Given the description of an element on the screen output the (x, y) to click on. 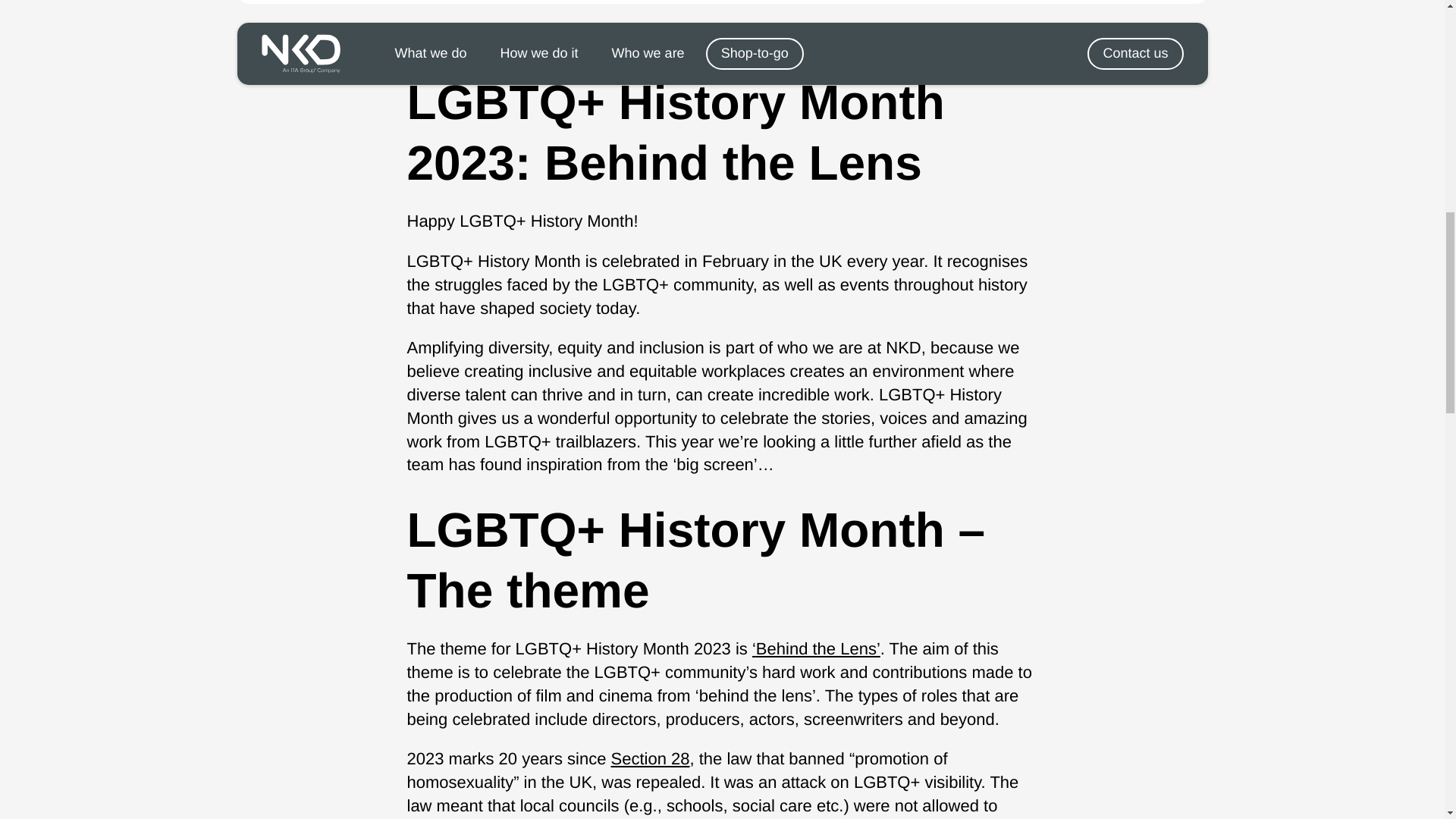
Section 28 (650, 758)
